Given the description of an element on the screen output the (x, y) to click on. 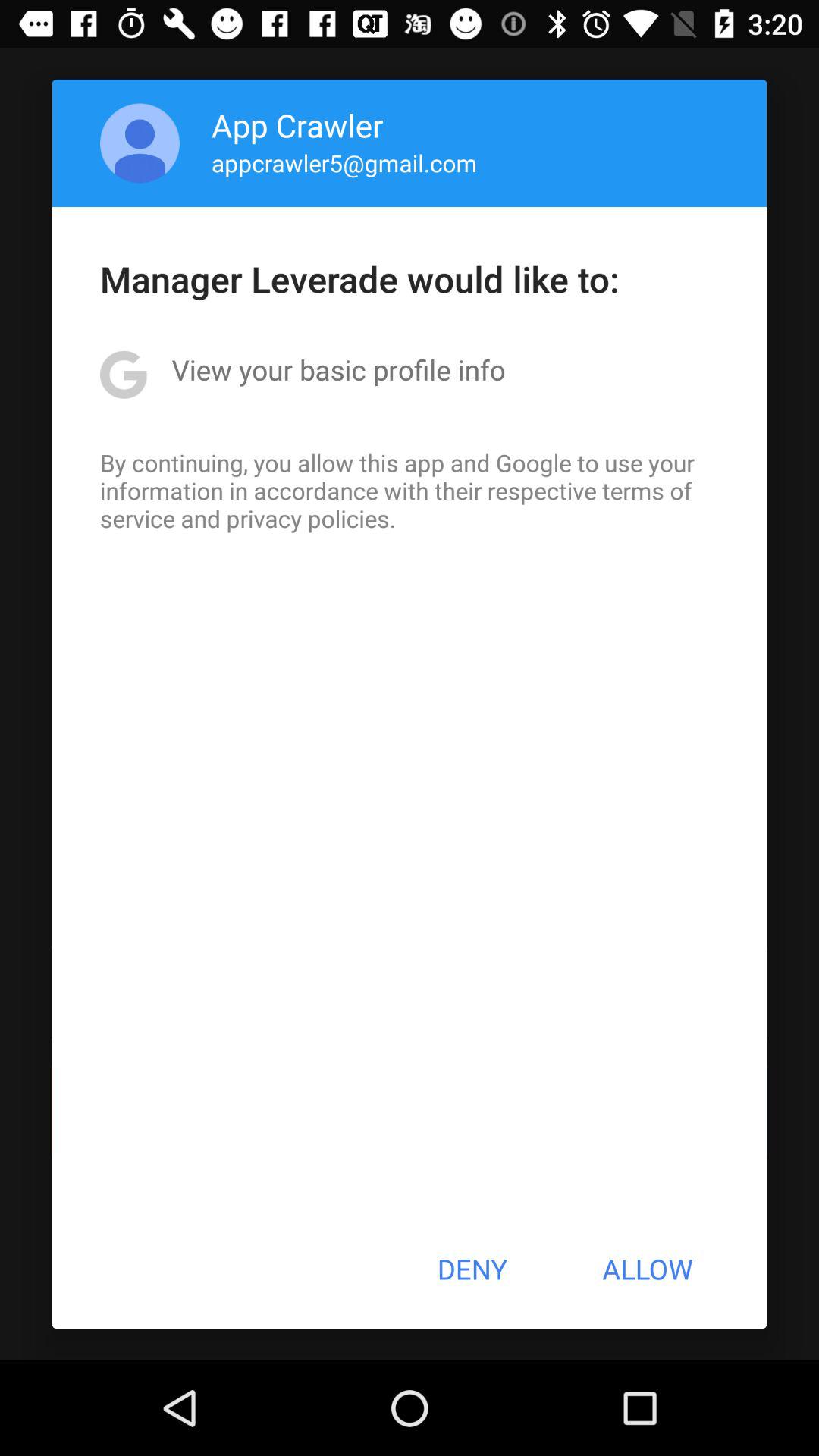
open the icon above appcrawler5@gmail.com (297, 124)
